Given the description of an element on the screen output the (x, y) to click on. 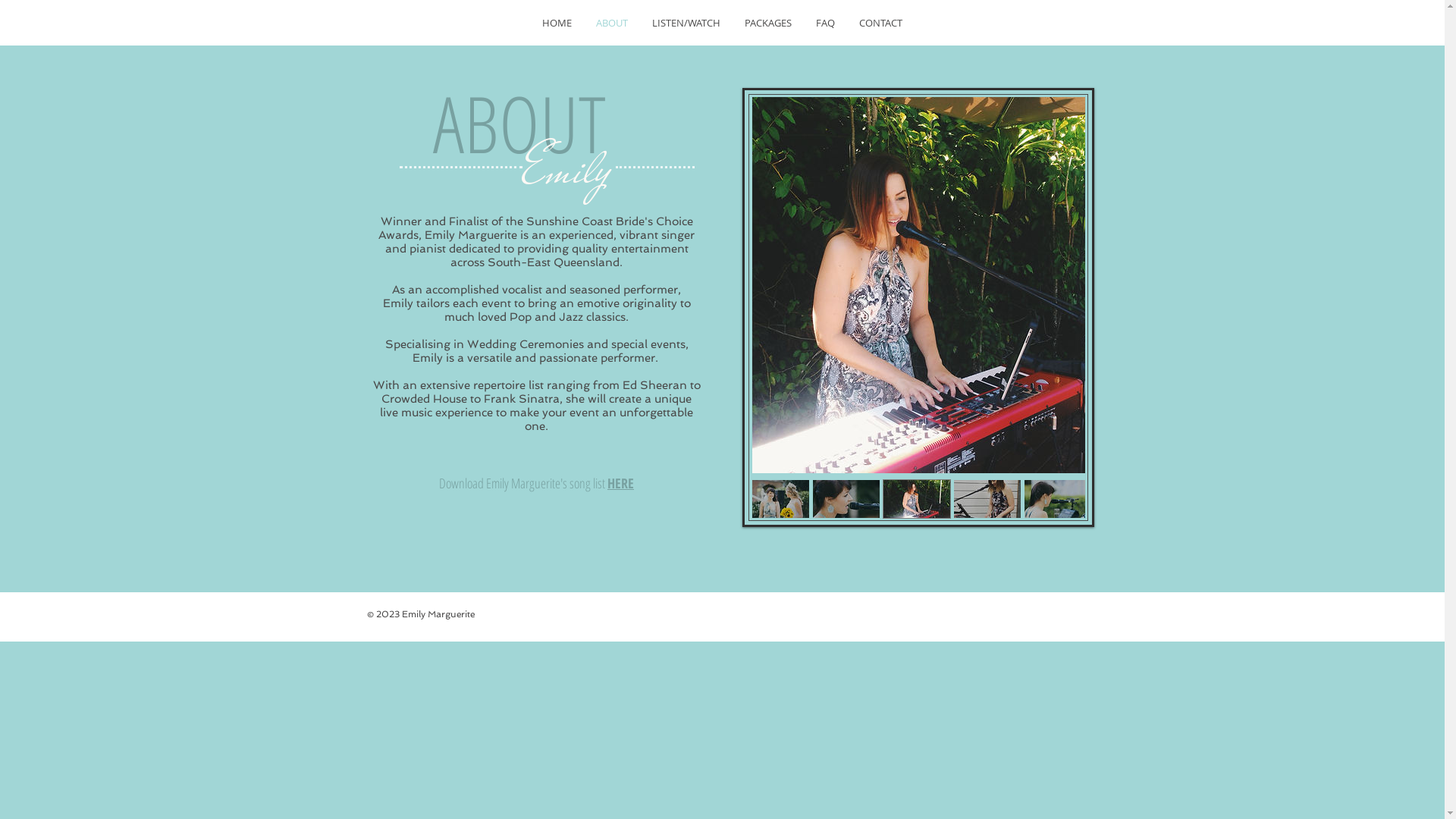
PACKAGES Element type: text (767, 22)
FAQ Element type: text (825, 22)
HERE Element type: text (620, 482)
CONTACT Element type: text (880, 22)
ABOUT Element type: text (611, 22)
HOME Element type: text (556, 22)
LISTEN/WATCH Element type: text (686, 22)
